Given the description of an element on the screen output the (x, y) to click on. 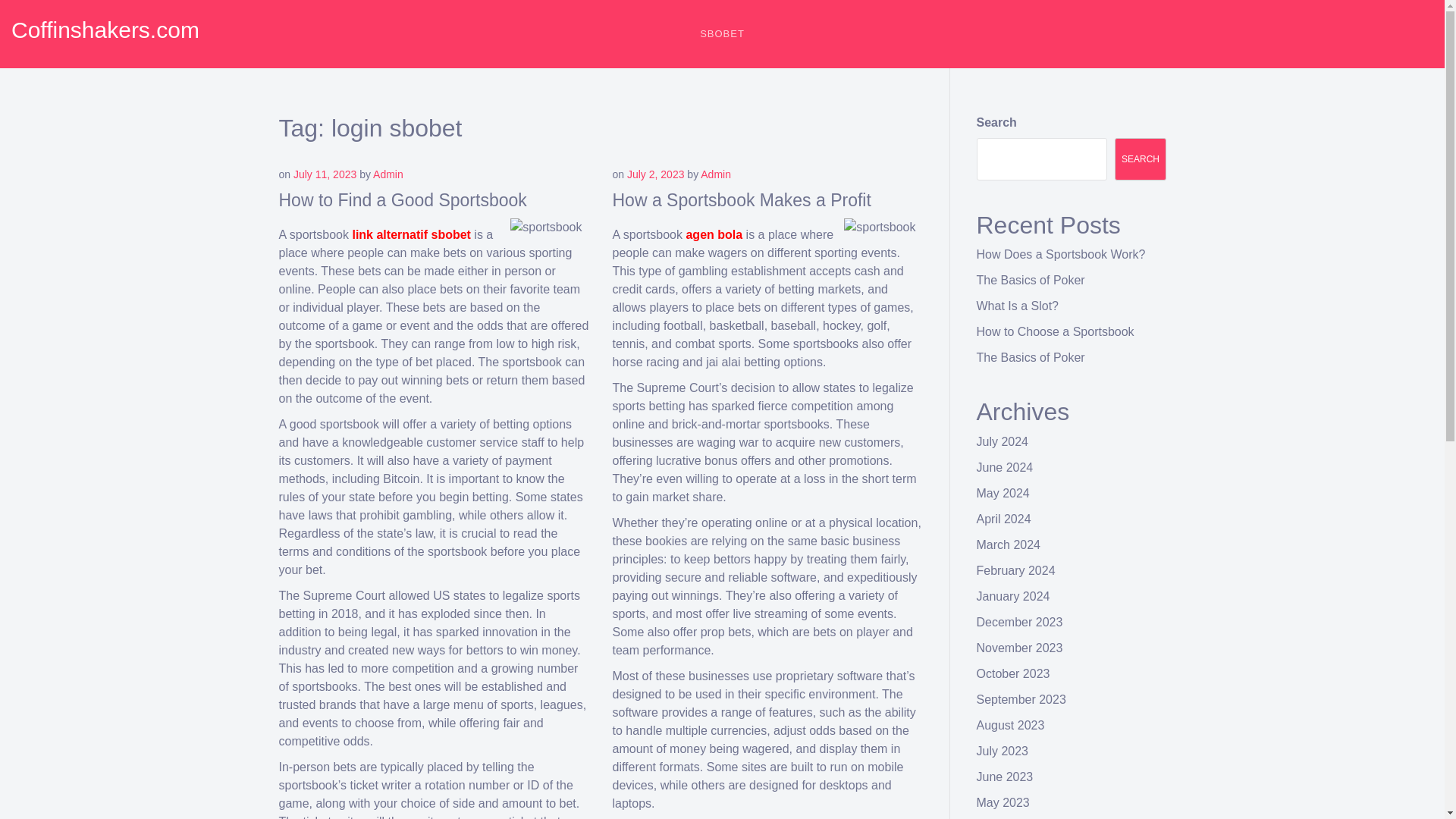
July 2023 (1002, 750)
July 11, 2023 (325, 174)
August 2023 (1010, 725)
Admin (387, 174)
The Basics of Poker (1030, 357)
May 2024 (1002, 492)
July 2024 (1002, 440)
agen bola (713, 234)
Coffinshakers.com (105, 29)
What Is a Slot? (1017, 305)
January 2024 (1012, 595)
December 2023 (1019, 621)
March 2024 (1008, 544)
June 2023 (1004, 776)
SBOBET (721, 33)
